Given the description of an element on the screen output the (x, y) to click on. 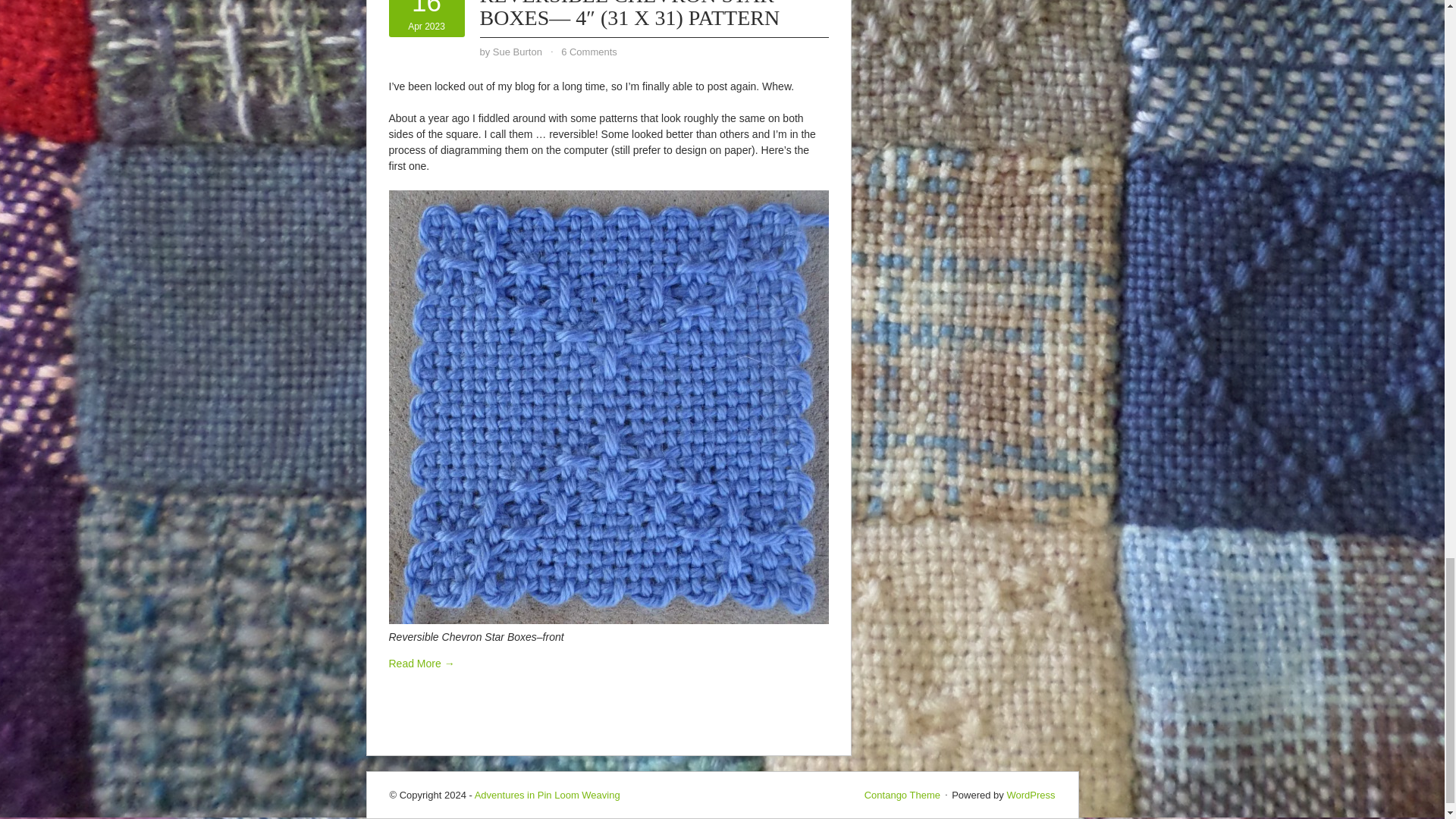
WordPress (1030, 794)
6 Comments (588, 51)
16 April 2023 10:36 PM (426, 15)
WordPress (1030, 794)
Contango Theme (426, 15)
Sue Burton (902, 794)
Adventures in Pin Loom Weaving (517, 51)
Contango Theme (547, 794)
by Sue Burton (902, 794)
